Given the description of an element on the screen output the (x, y) to click on. 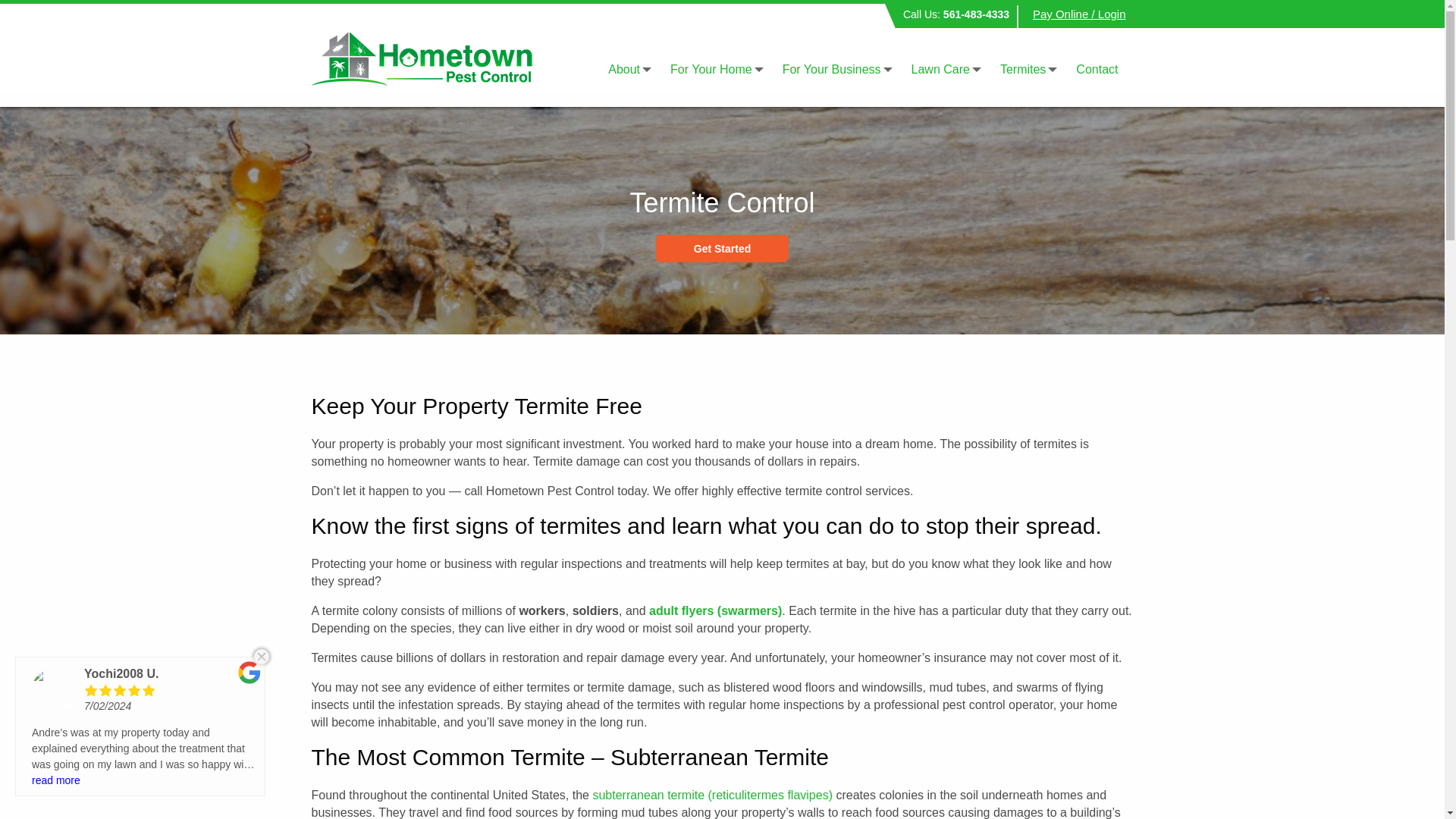
Call Us: 561-483-4333 (956, 15)
